Given the description of an element on the screen output the (x, y) to click on. 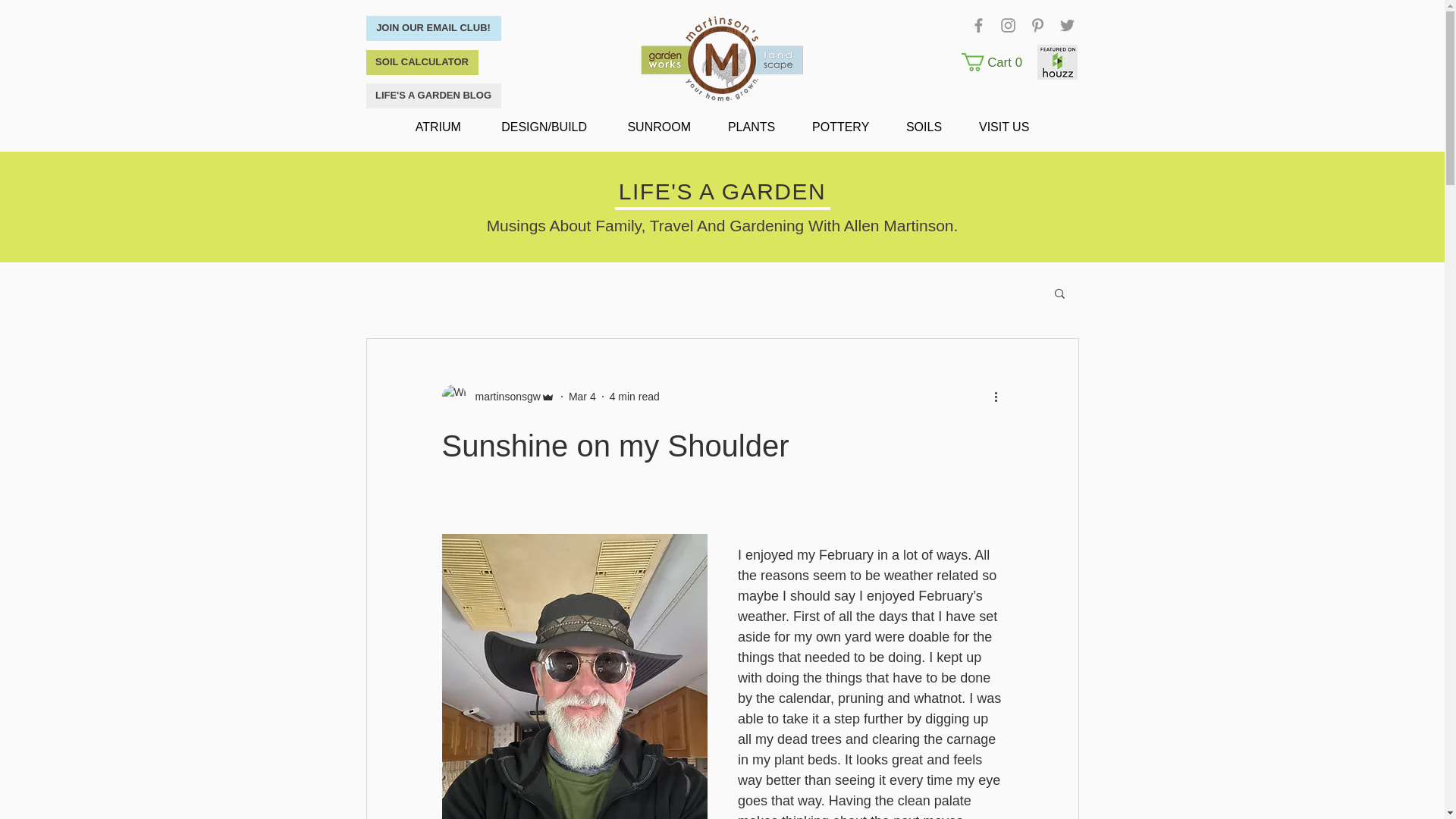
JOIN OUR EMAIL CLUB! (432, 27)
4 min read (634, 395)
LIFE'S A GARDEN BLOG (432, 95)
POTTERY            (858, 126)
martinsonsgw (502, 396)
SUNROOM (658, 126)
ATRIUM (439, 126)
Mar 4 (994, 62)
